Given the description of an element on the screen output the (x, y) to click on. 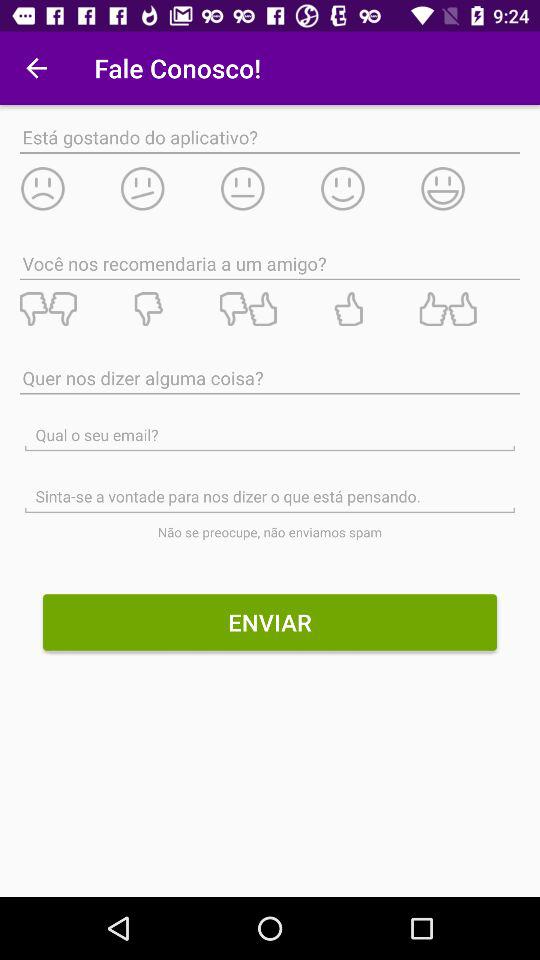
classify our service (69, 309)
